Given the description of an element on the screen output the (x, y) to click on. 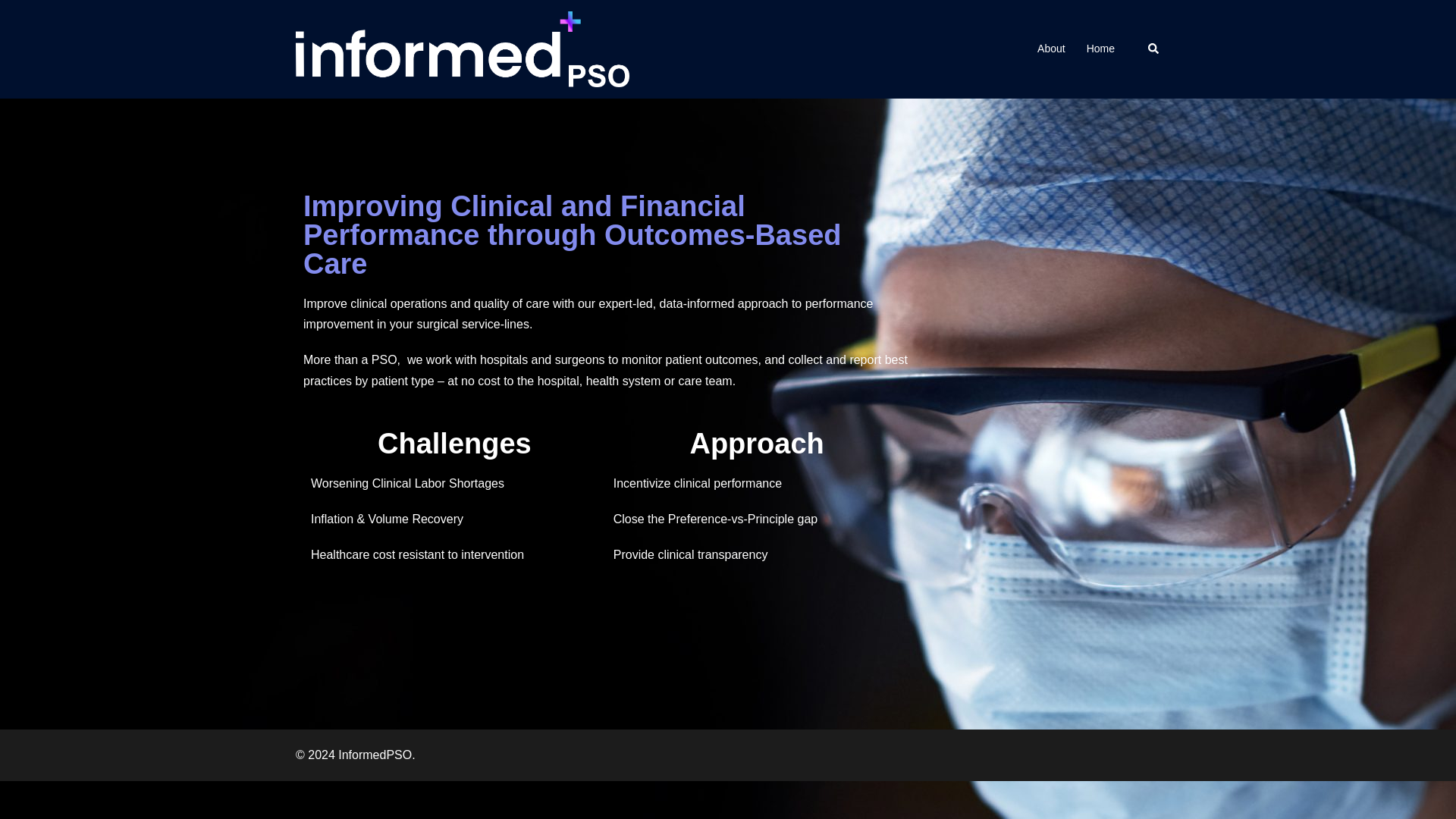
Home (1100, 49)
About (1050, 49)
InformedPSO (461, 47)
